Given the description of an element on the screen output the (x, y) to click on. 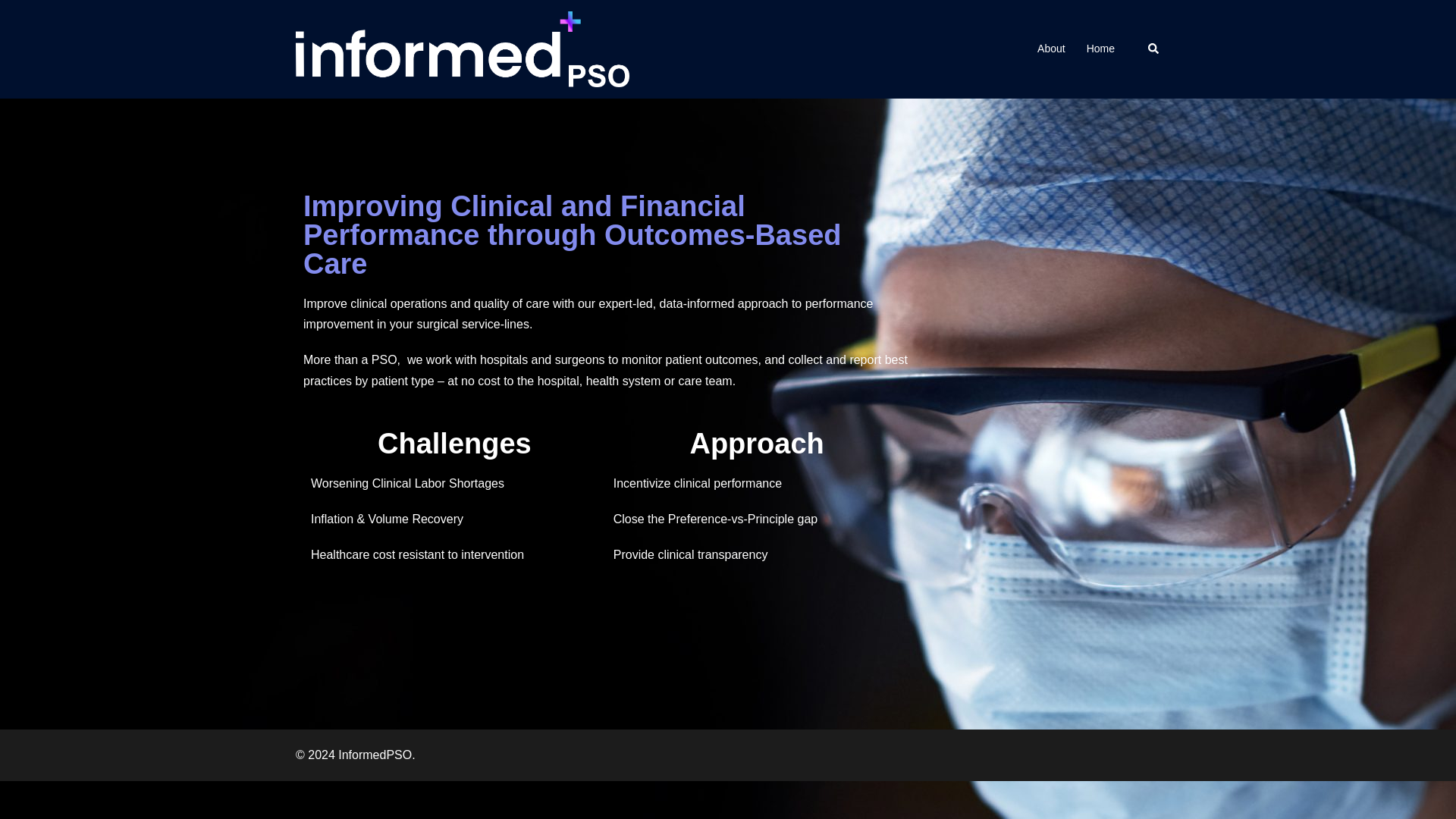
Home (1100, 49)
About (1050, 49)
InformedPSO (461, 47)
